Given the description of an element on the screen output the (x, y) to click on. 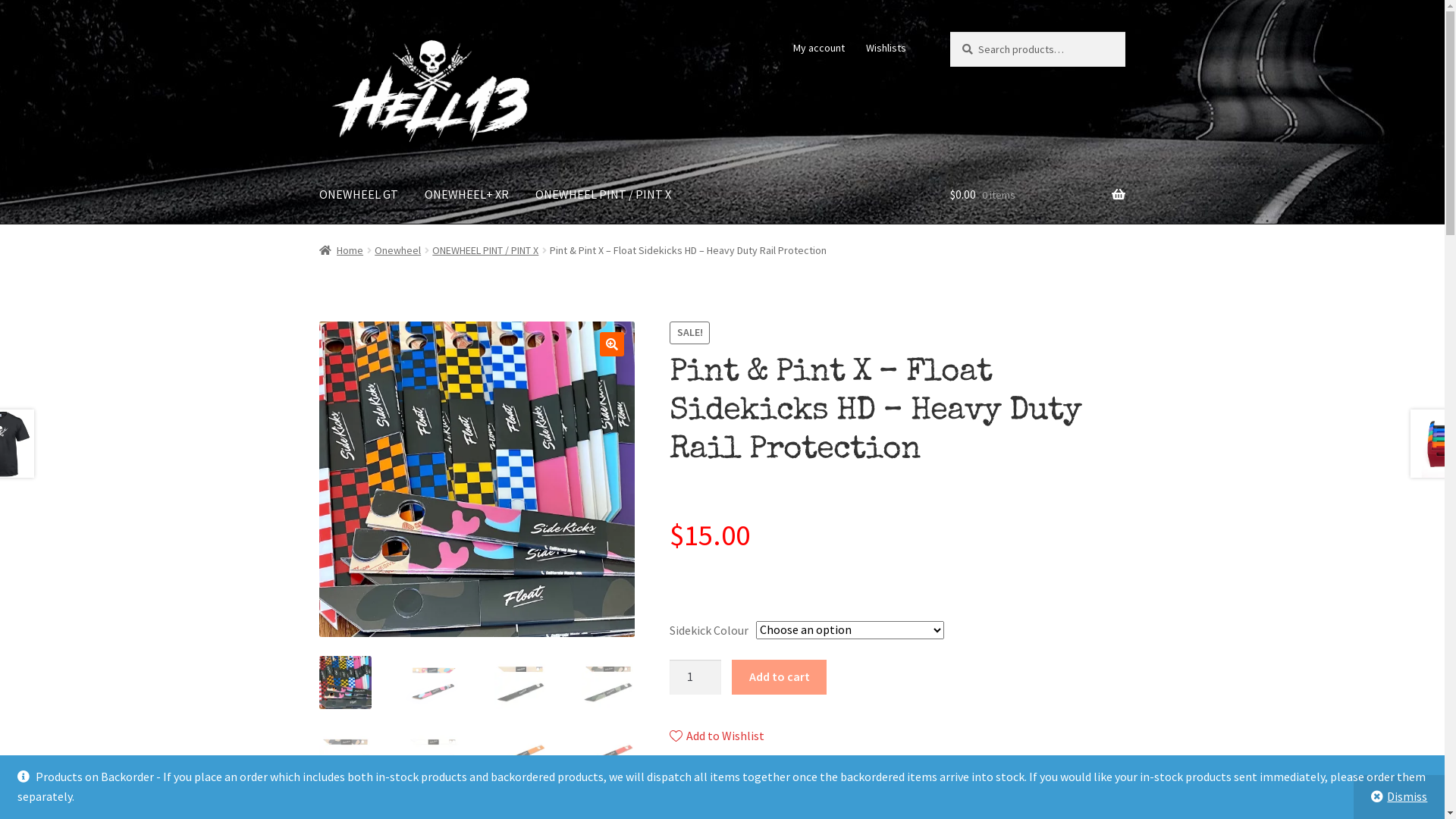
ONEWHEEL PINT / PINT X Element type: text (603, 194)
Skip to navigation Element type: text (318, 31)
$0.00 0 items Element type: text (1037, 194)
Wishlists Element type: text (885, 47)
Onewheel Element type: text (397, 250)
Add to cart Element type: text (778, 676)
Add to Wishlist Element type: text (716, 736)
Twitter Element type: text (700, 800)
Search Element type: text (949, 31)
My account Element type: text (819, 47)
Home Element type: text (341, 250)
Pinterest Element type: text (924, 800)
ONEWHEEL+ XR Element type: text (466, 194)
IMG_2108 copy Element type: hover (476, 479)
Facebook Element type: text (775, 800)
Reddit Element type: text (852, 800)
ONEWHEEL PINT / PINT X Element type: text (485, 250)
ONEWHEEL GT Element type: text (358, 194)
